Given the description of an element on the screen output the (x, y) to click on. 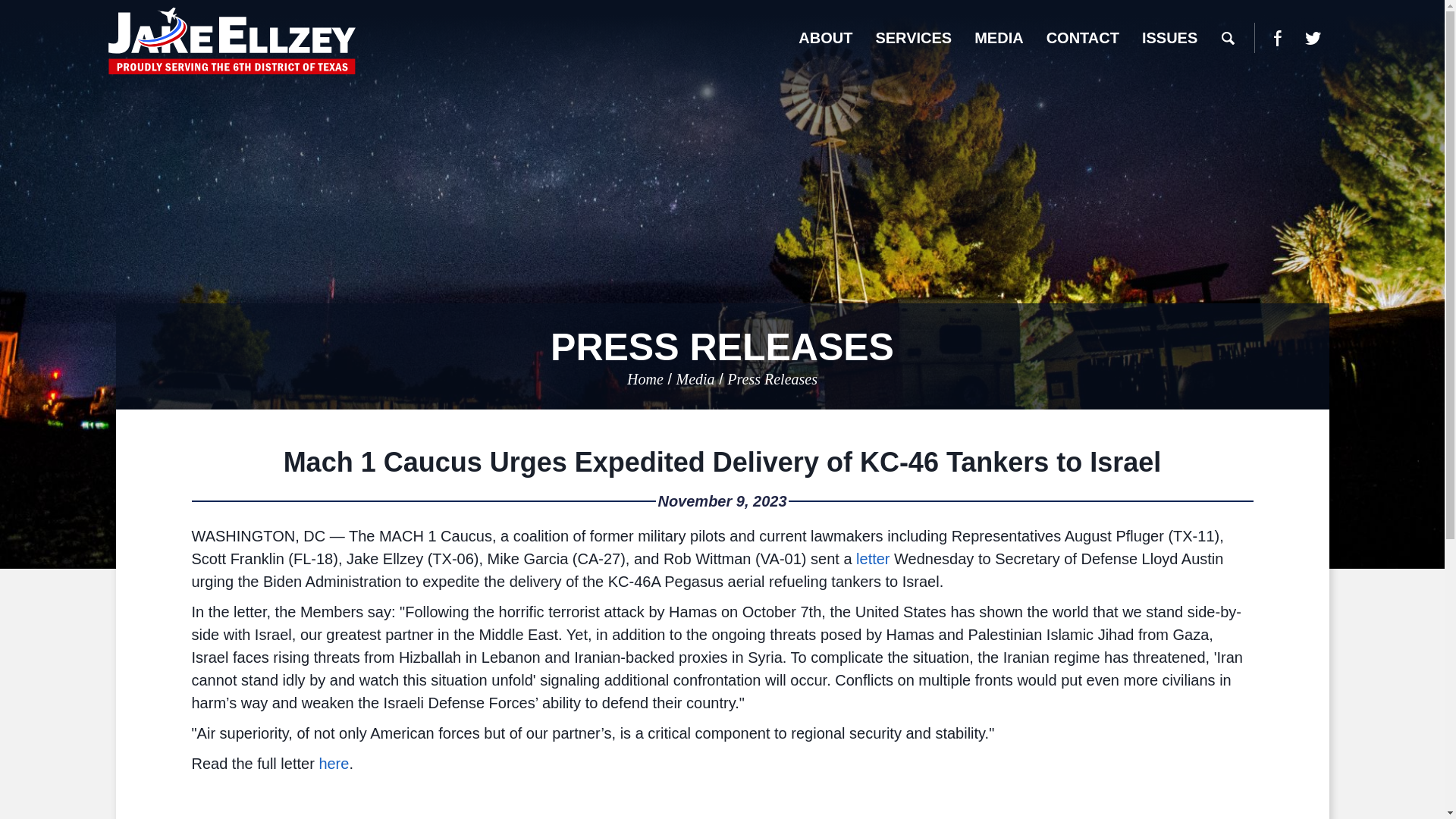
Media (695, 379)
Home (645, 379)
ABOUT (825, 38)
SERVICES (912, 38)
United States Congressman Jake Ellzey (231, 40)
MEDIA (997, 38)
FACEBOOK (1276, 37)
CONTACT (1083, 38)
ISSUES (1169, 38)
